Given the description of an element on the screen output the (x, y) to click on. 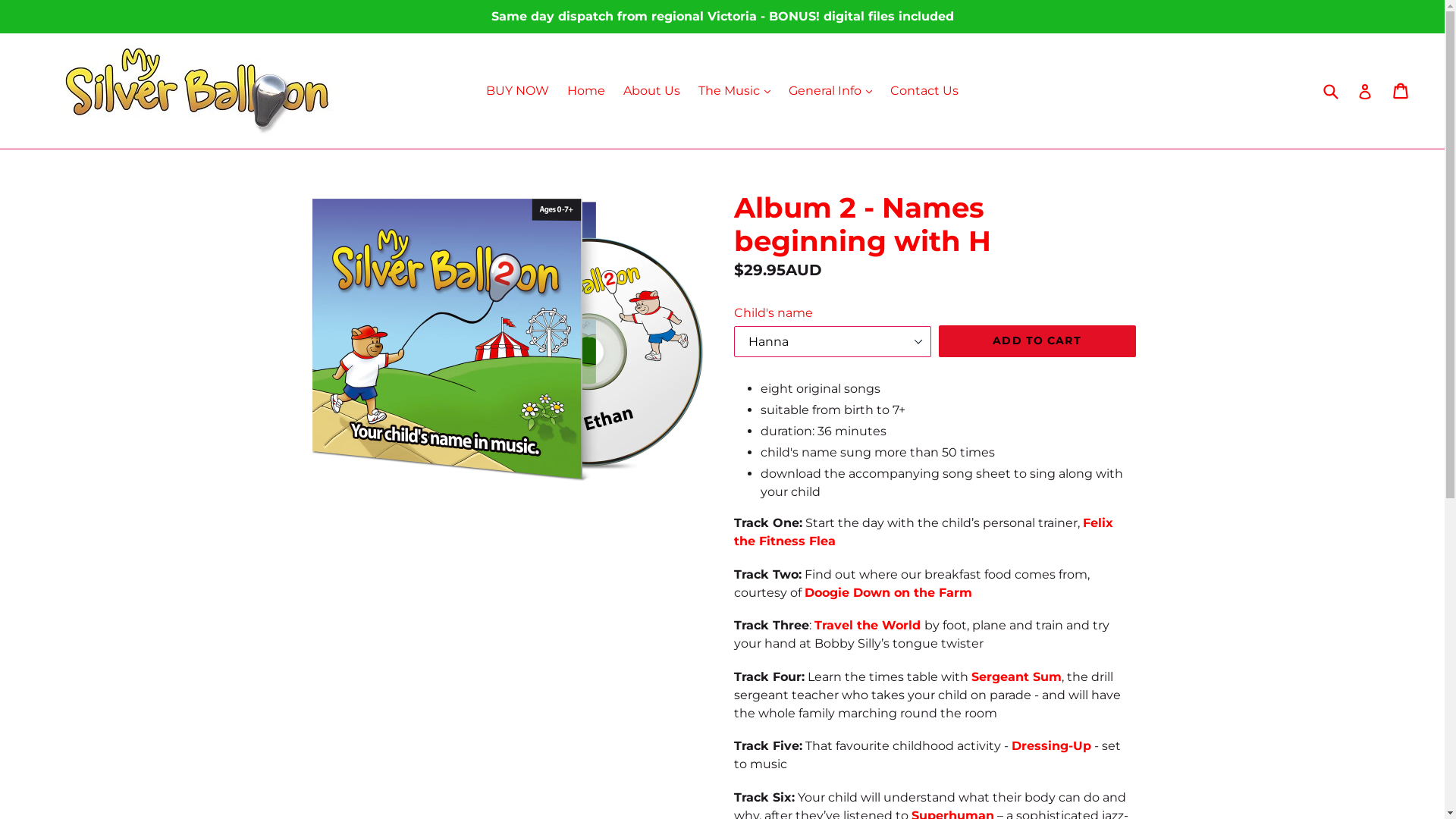
Cart
Cart Element type: text (1401, 90)
Home Element type: text (585, 90)
About Us Element type: text (651, 90)
Contact Us Element type: text (924, 90)
ADD TO CART Element type: text (1036, 341)
BUY NOW Element type: text (517, 90)
Submit Element type: text (1329, 90)
Log in Element type: text (1364, 90)
